Given the description of an element on the screen output the (x, y) to click on. 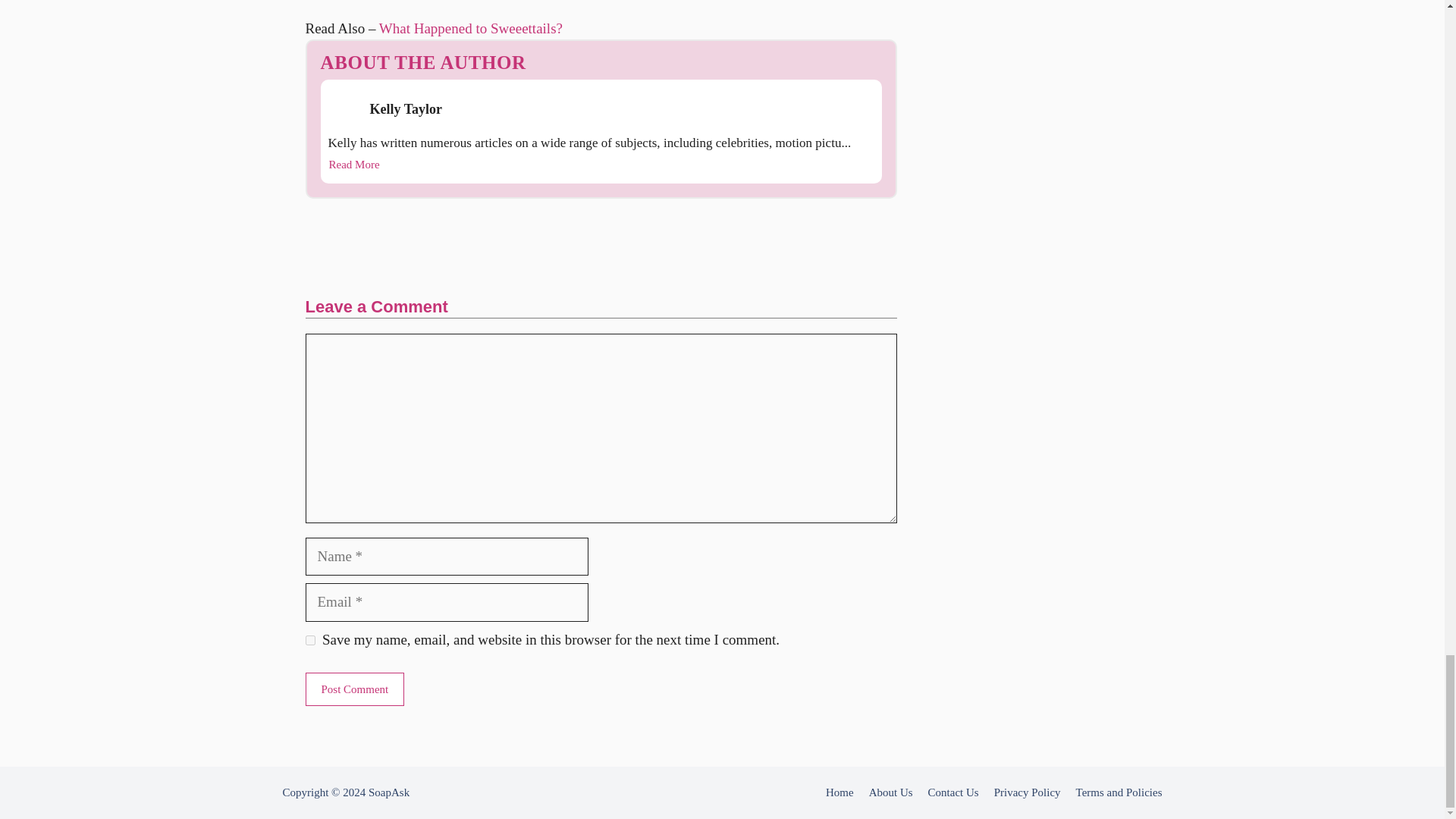
yes (309, 640)
Post Comment (354, 689)
